Given the description of an element on the screen output the (x, y) to click on. 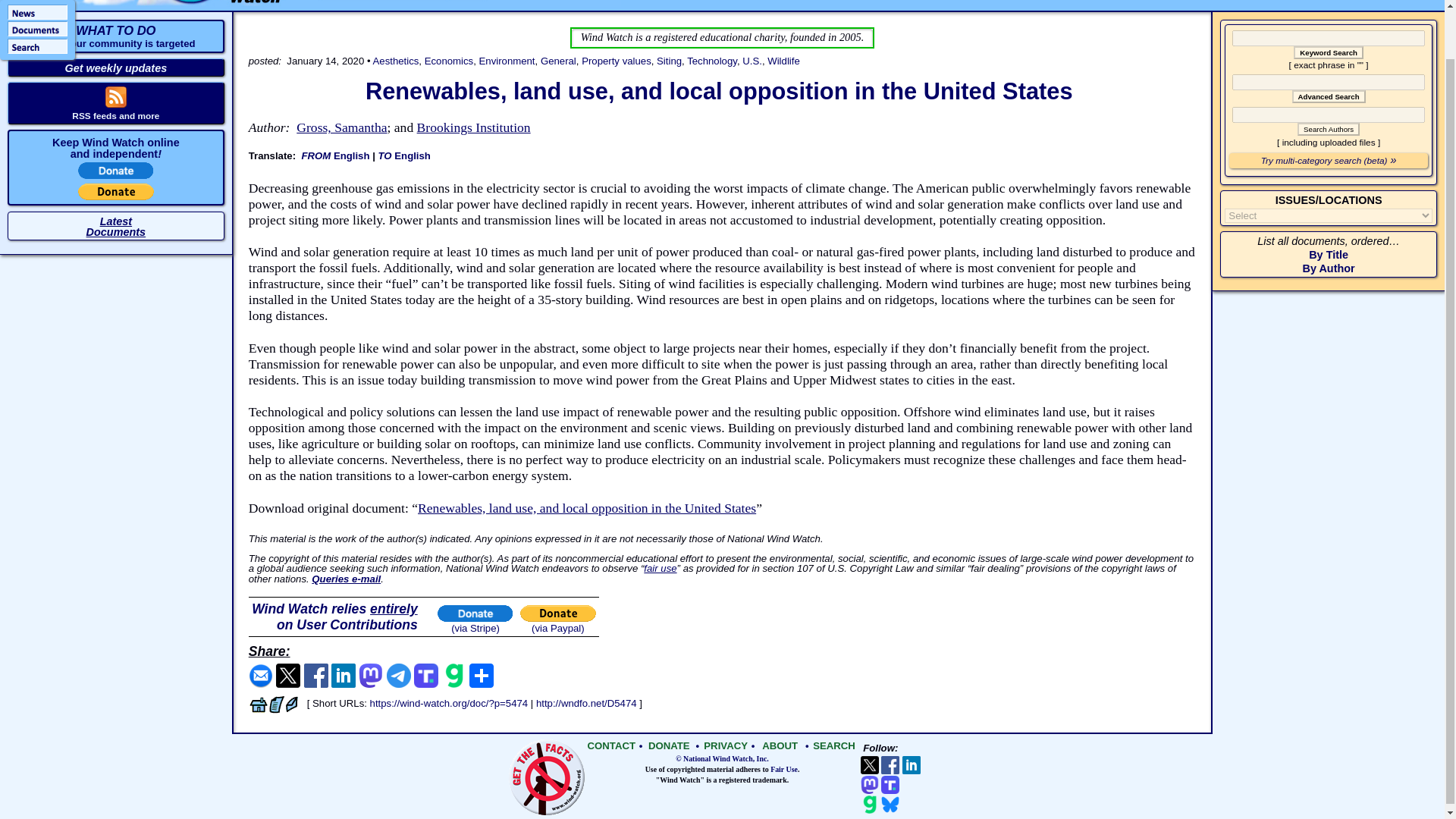
Wind Watch RSS Feeds (114, 115)
Get weekly updates (116, 68)
Technology (711, 60)
Advanced Search (1328, 96)
Donate via Stripe (116, 174)
RSS feeds and more (114, 115)
Aesthetics (115, 37)
General (395, 60)
Search Authors (558, 60)
Property values (1328, 128)
Keep Wind Watch online and independent! (615, 60)
